Given the description of an element on the screen output the (x, y) to click on. 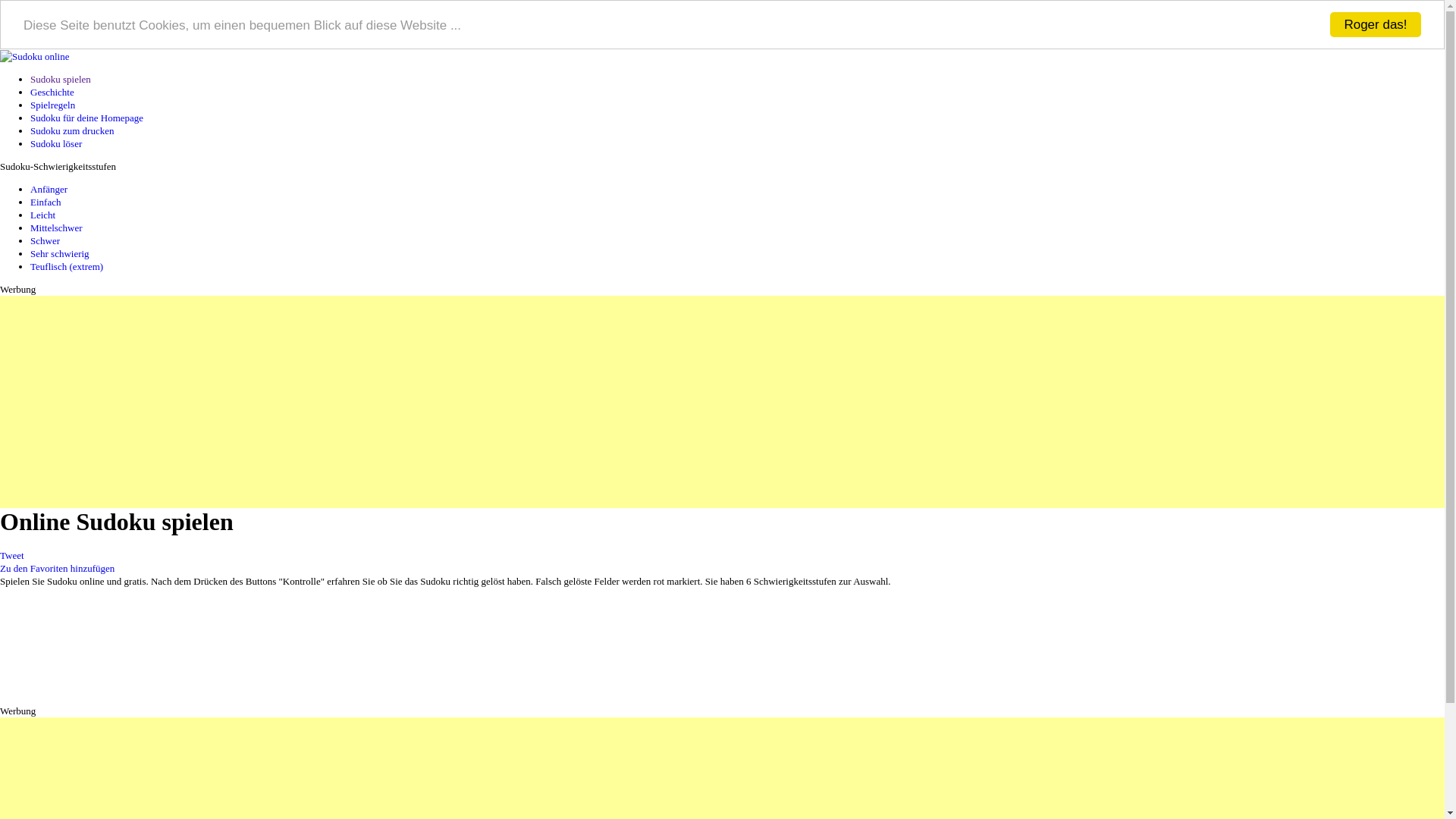
Leicht Element type: text (42, 214)
Geschichte Element type: text (52, 91)
Advertisement Element type: hover (455, 401)
Roger das! Element type: text (1375, 24)
Sudoku zum drucken Element type: text (71, 130)
Tweet Element type: text (12, 555)
Mittelschwer Element type: text (56, 227)
Sehr schwierig Element type: text (59, 253)
Einfach Element type: text (45, 201)
Sudoku spielen Element type: text (60, 78)
Sudoku online kostenlos spielen | 123Sudoku.ch Element type: hover (34, 56)
Spielregeln Element type: text (52, 104)
Teuflisch (extrem) Element type: text (66, 266)
Schwer Element type: text (44, 240)
